Given the description of an element on the screen output the (x, y) to click on. 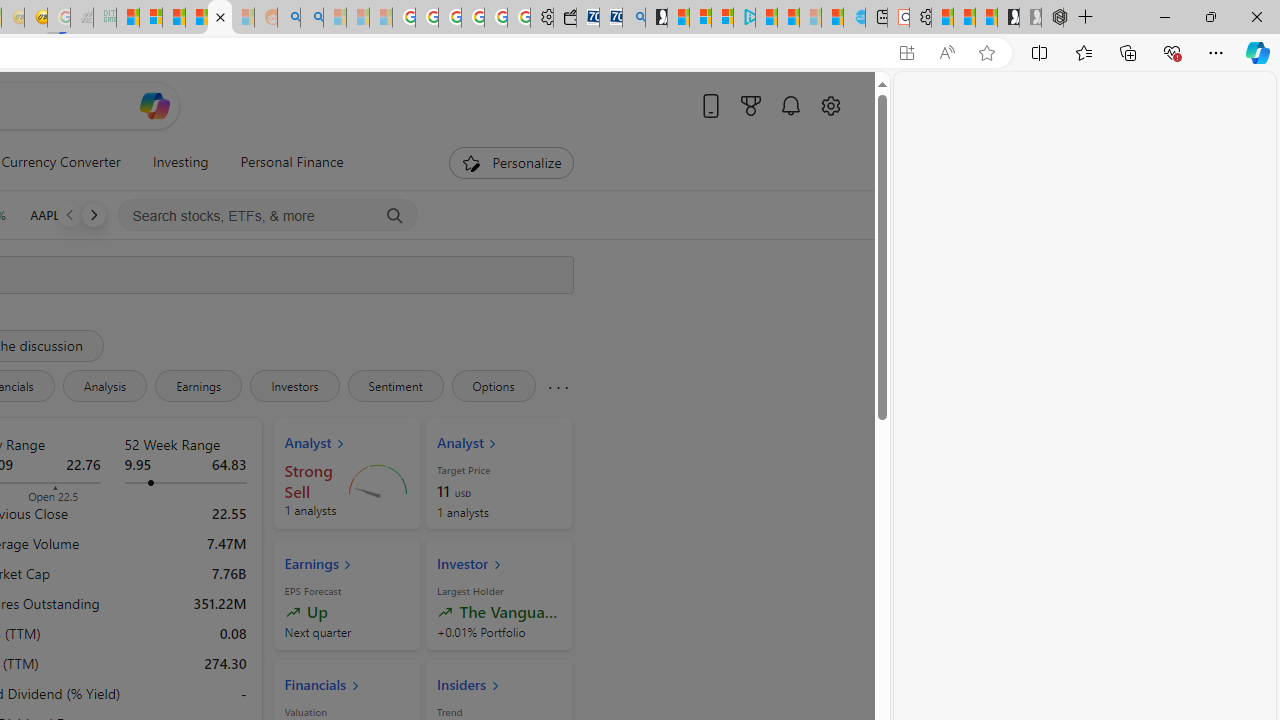
Currency Converter (61, 162)
Open Copilot (155, 105)
Open Copilot (155, 105)
Bing Real Estate - Home sales and rental listings (634, 17)
Class: card_head_icon_lightMode-DS-EntryPoint1-1 (494, 685)
Sentiment (395, 385)
